Given the description of an element on the screen output the (x, y) to click on. 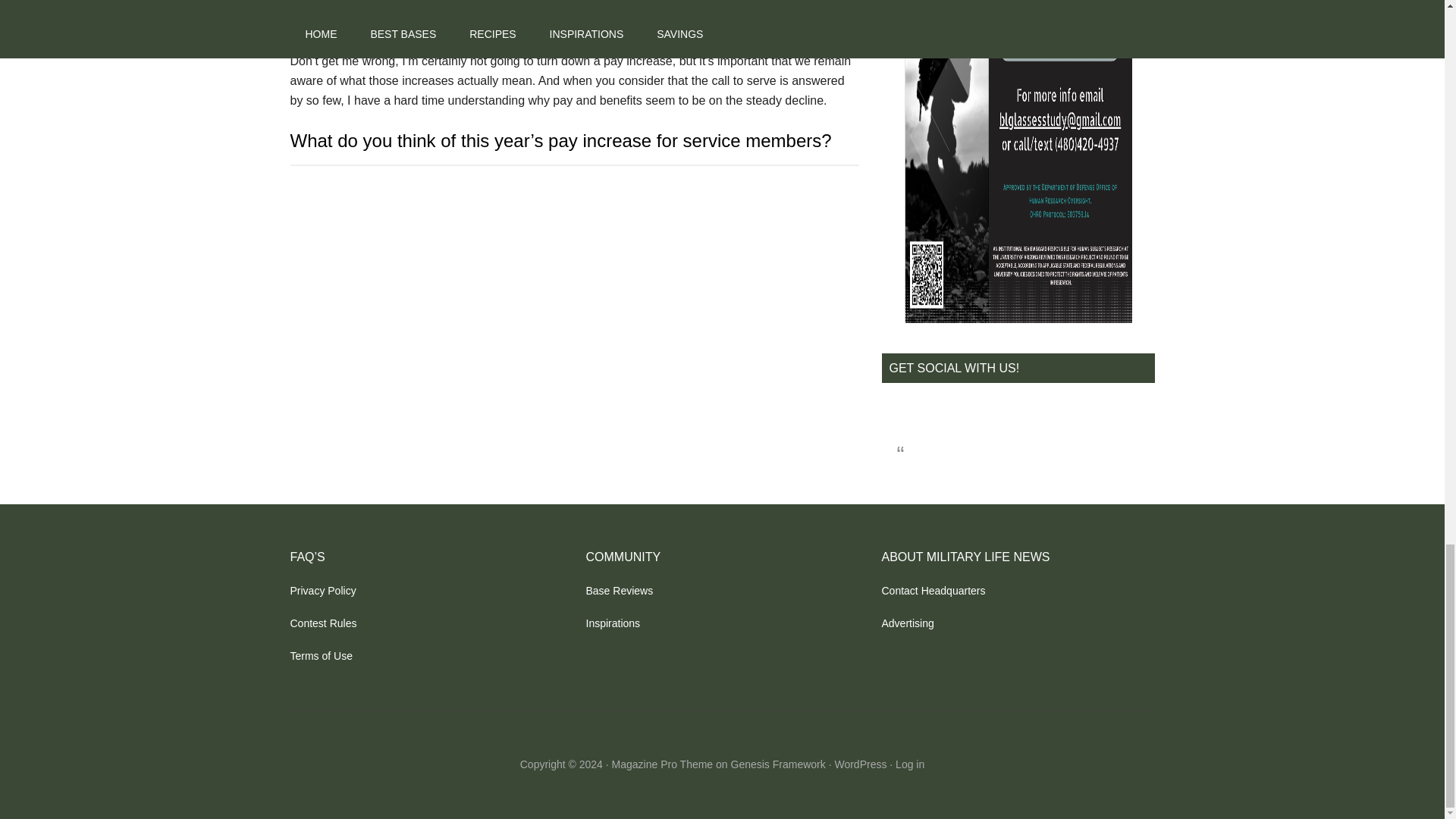
Terms of Use (320, 655)
Tricare (442, 4)
Privacy Policy (322, 590)
Contest Rules (322, 623)
